Given the description of an element on the screen output the (x, y) to click on. 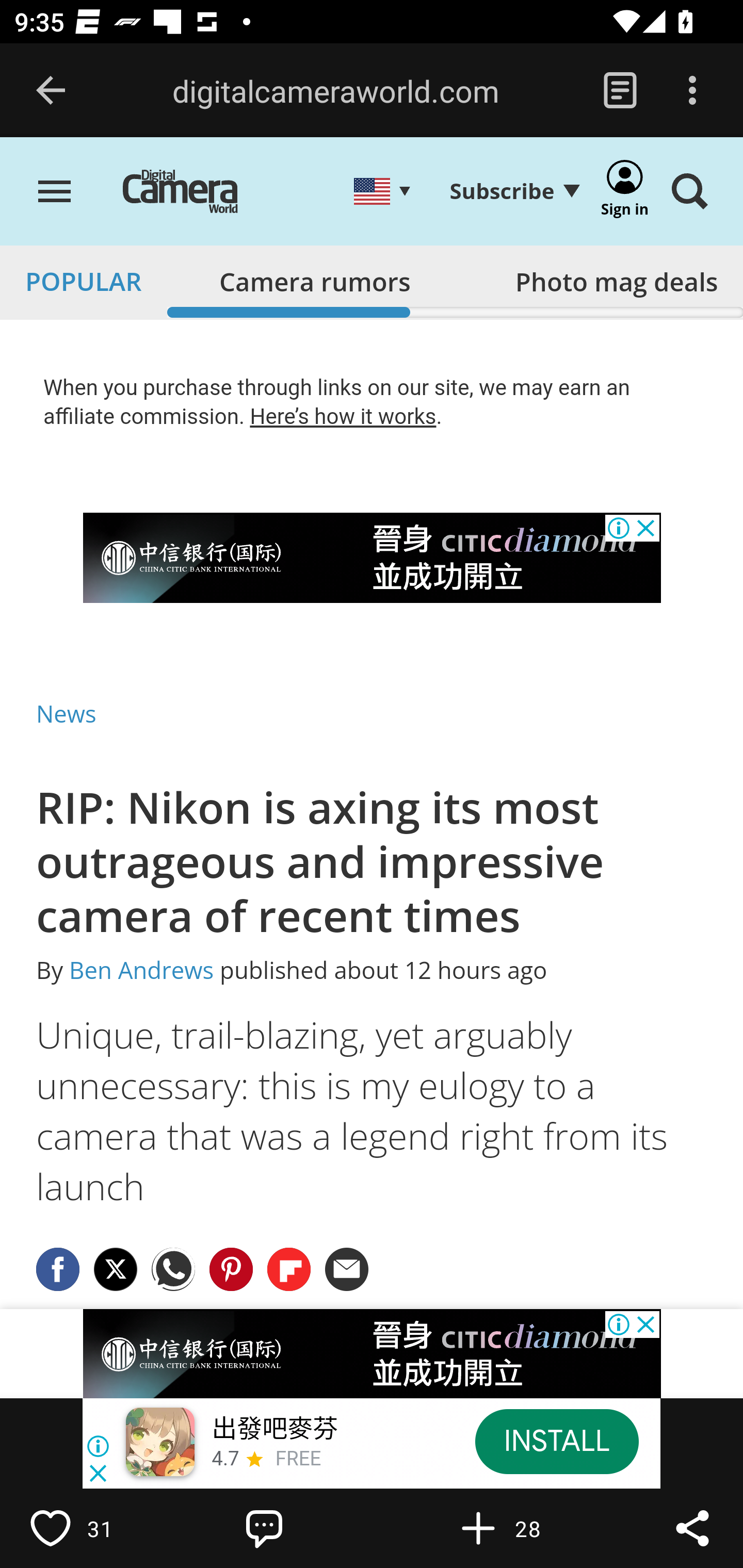
Back (50, 90)
Reader View (619, 90)
Options (692, 90)
Open menu (54, 192)
Digital Camera World (194, 192)
Sign in (625, 192)
Search (689, 192)
Subscribe (514, 190)
Camera rumors (314, 277)
Photo mag deals (615, 277)
Here’s how it works (342, 415)
Return to News News (66, 712)
Ben Andrews (141, 970)
Share this page on Facebook (58, 1268)
 Share this page on Twitter (115, 1268)
Share this page on WhatsApp (173, 1268)
Share this page on Pinterest (230, 1268)
Share this page on Flipboard (289, 1268)
Share this page on your Email  (347, 1268)
INSTALL (556, 1441)
出發吧麥芬 (274, 1429)
Like 31 (93, 1528)
Write a comment… (307, 1528)
Flip into Magazine 28 (521, 1528)
Share (692, 1528)
